Given the description of an element on the screen output the (x, y) to click on. 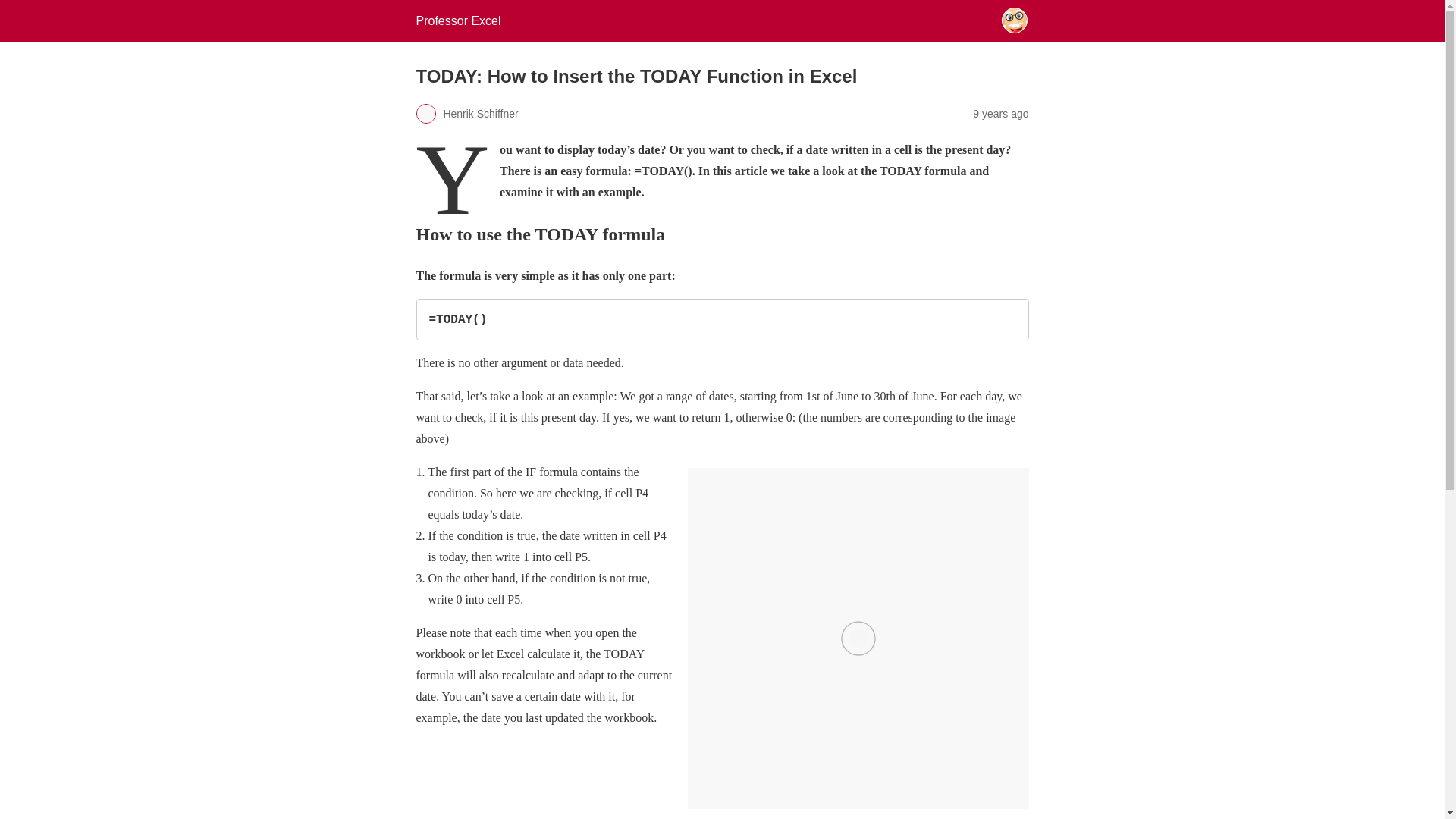
Professor Excel (457, 20)
